Given the description of an element on the screen output the (x, y) to click on. 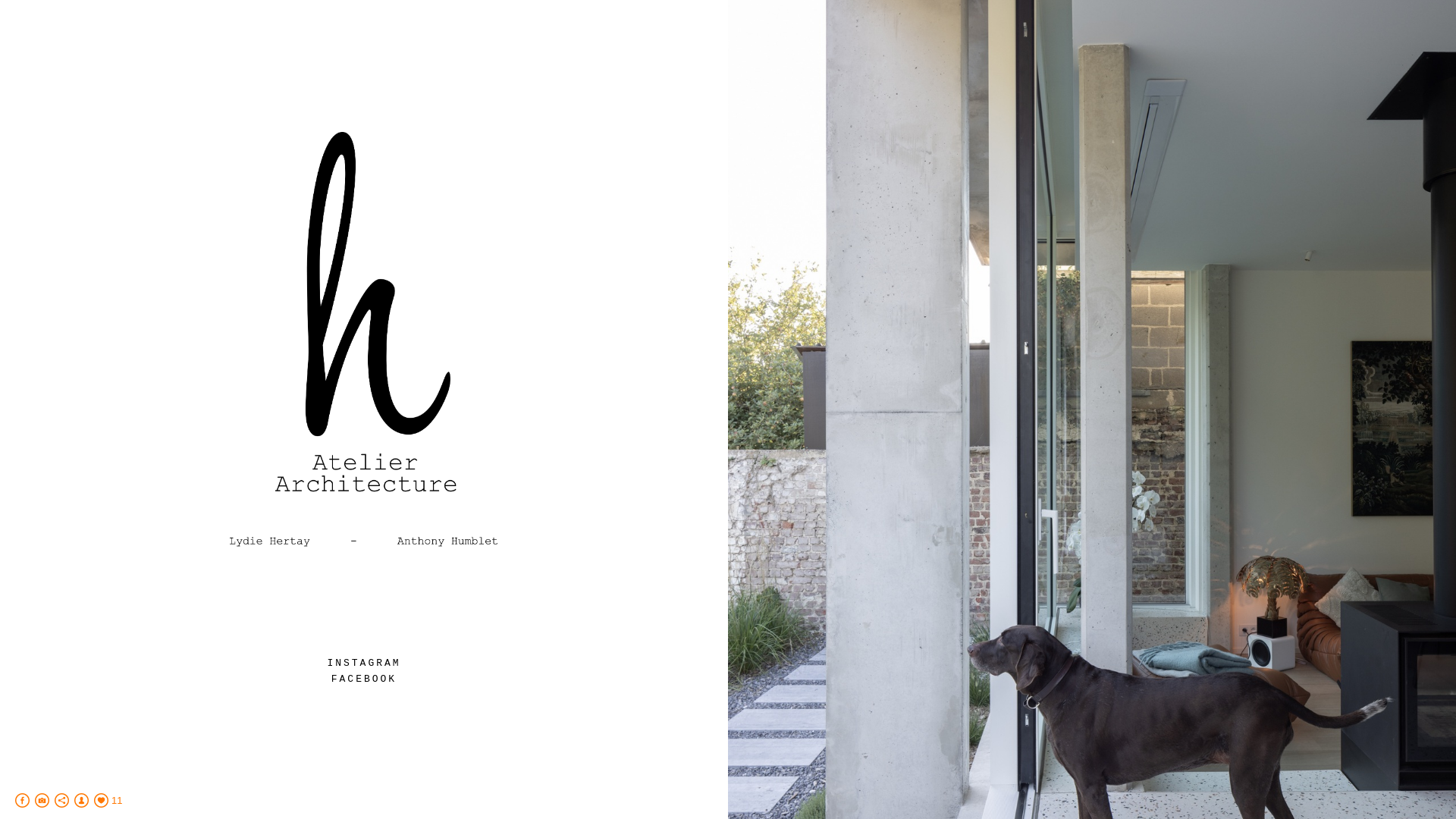
INSTAGRAM Element type: text (363, 662)
FACEBOOK Element type: text (363, 678)
